Given the description of an element on the screen output the (x, y) to click on. 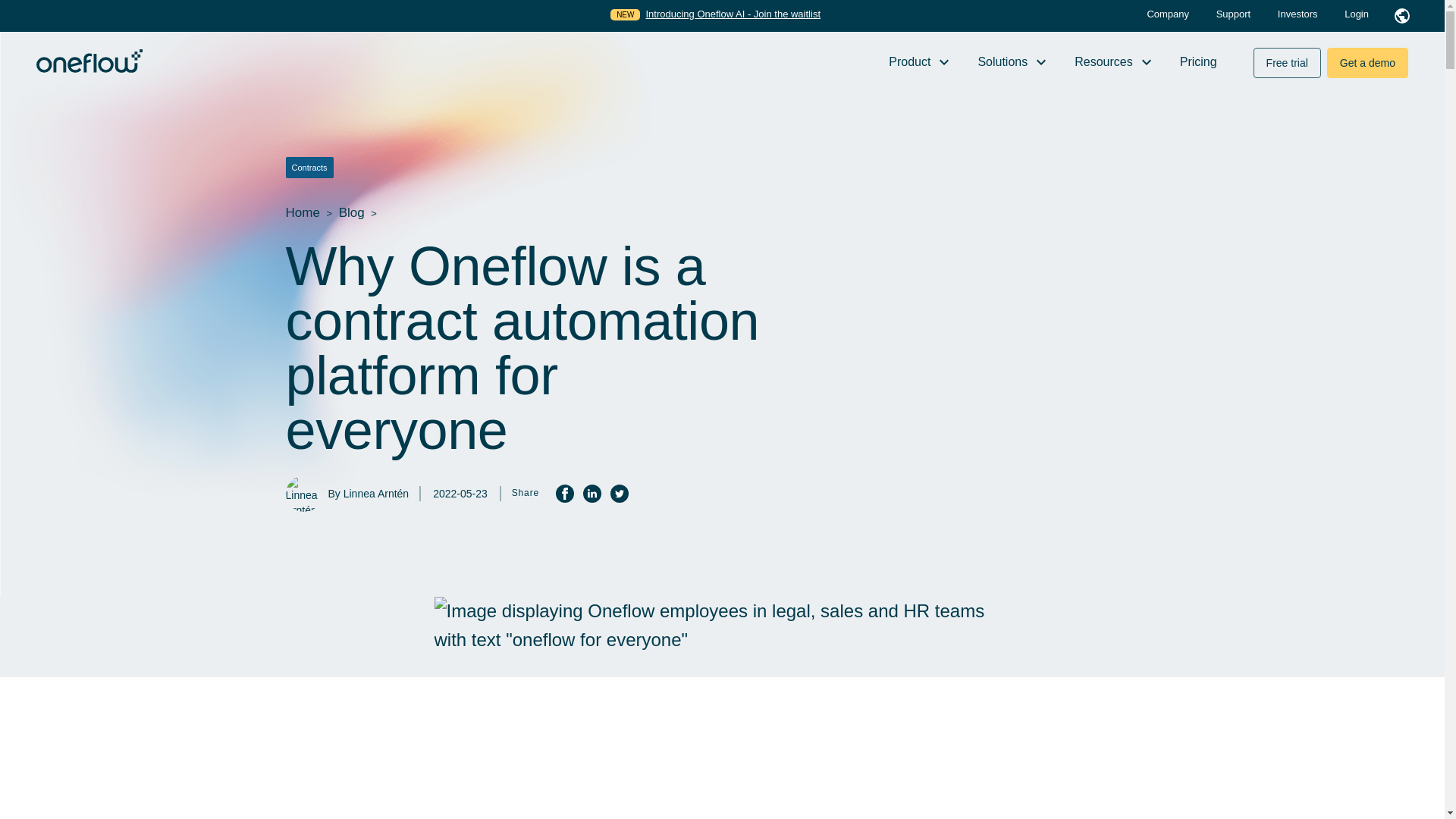
Company (1169, 13)
NEWIntroducing Oneflow AI - Join the waitlist (715, 13)
Share (564, 493)
Share (619, 493)
Support (1234, 13)
Share (592, 493)
Login (1355, 13)
Select Language (1401, 15)
Investors (1299, 13)
